Given the description of an element on the screen output the (x, y) to click on. 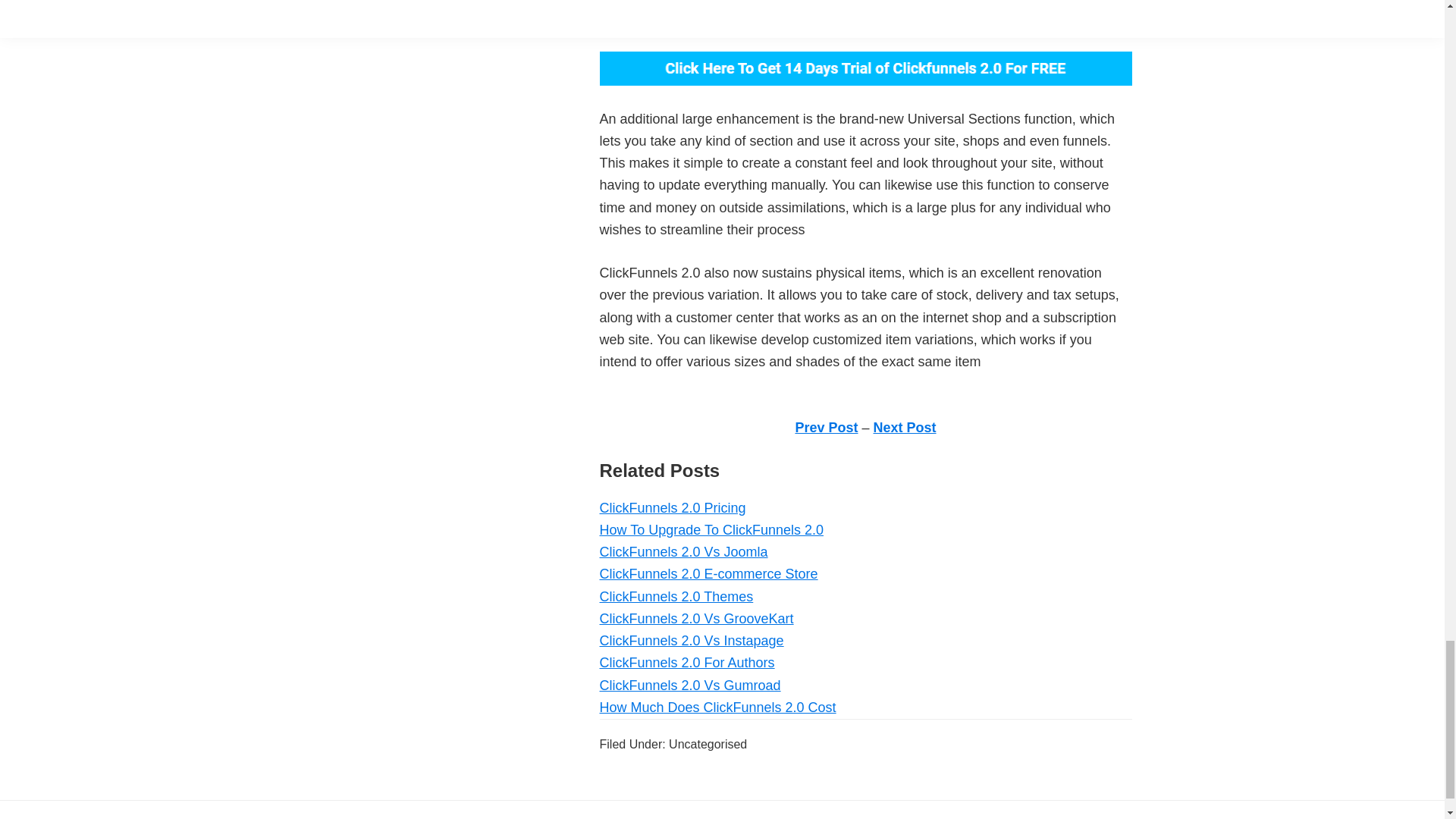
ClickFunnels 2.0 For Authors (686, 662)
Next Post (904, 427)
ClickFunnels 2.0 For Authors (686, 662)
ClickFunnels 2.0 Themes (675, 596)
ClickFunnels 2.0 Pricing (671, 507)
ClickFunnels 2.0 Themes (675, 596)
ClickFunnels 2.0 Pricing (671, 507)
How To Upgrade To ClickFunnels 2.0 (711, 529)
ClickFunnels 2.0 Vs Joomla (682, 551)
How Much Does ClickFunnels 2.0 Cost (716, 707)
